Given the description of an element on the screen output the (x, y) to click on. 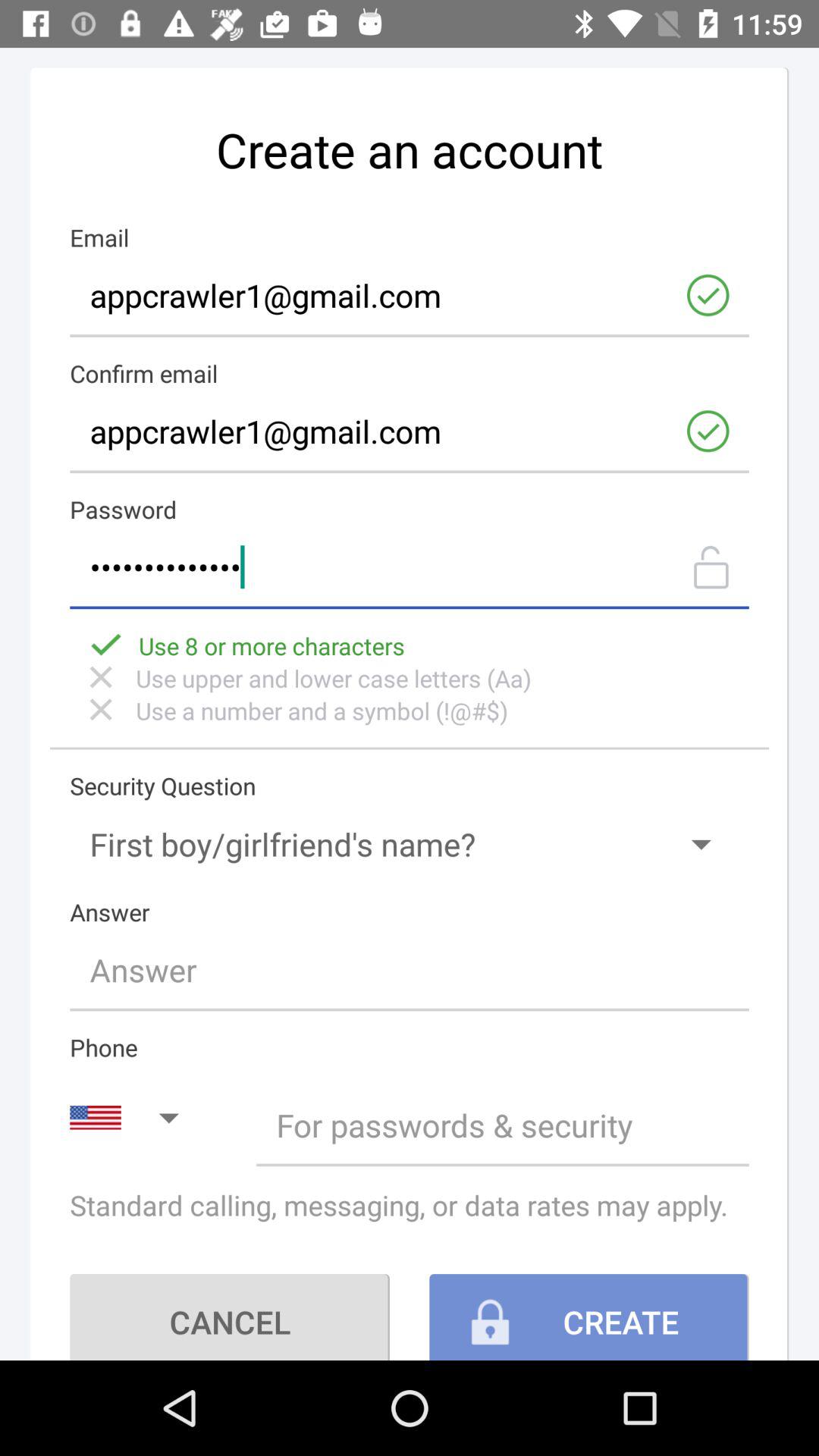
for passwords security switch option (502, 1124)
